Given the description of an element on the screen output the (x, y) to click on. 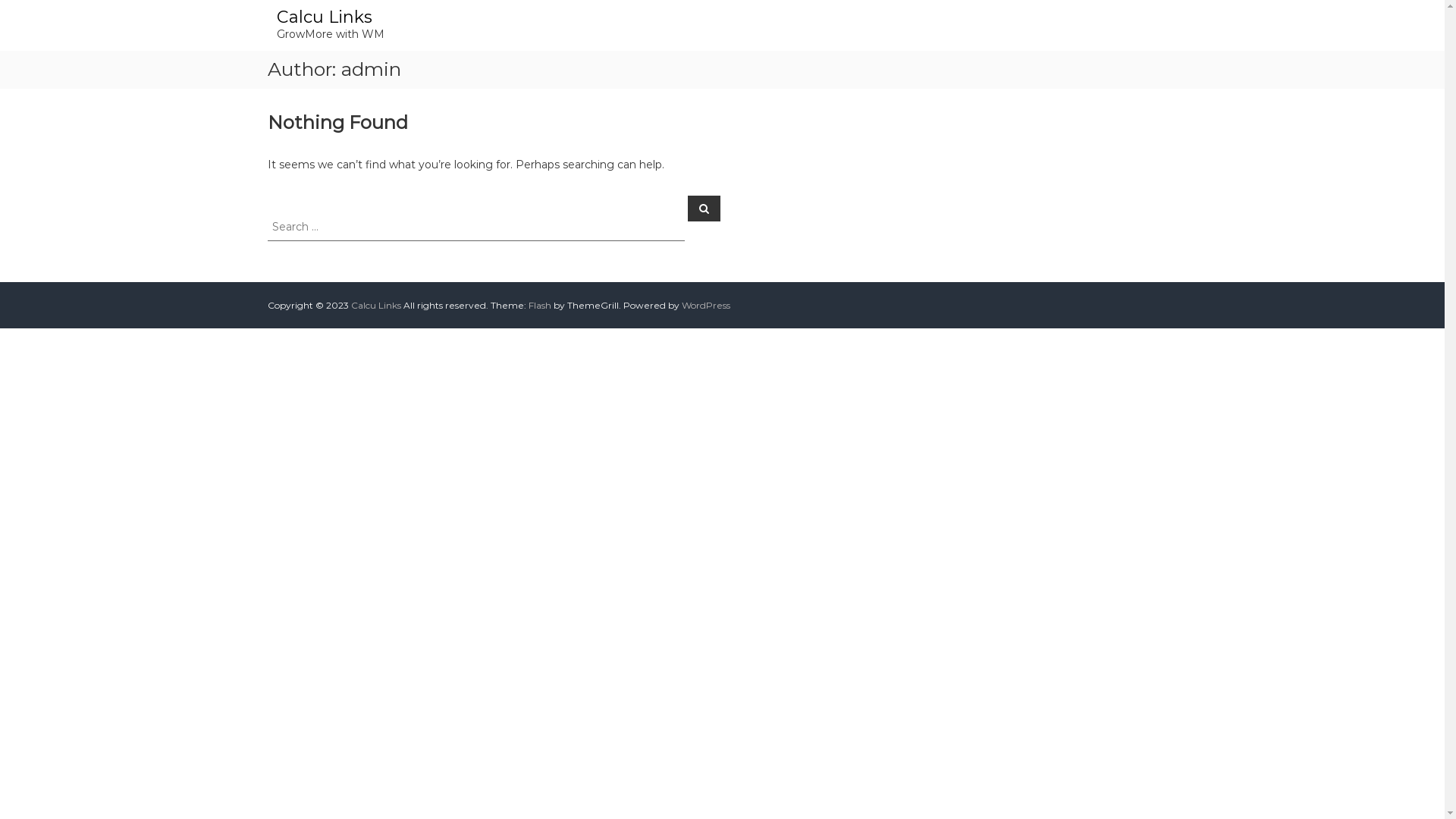
Calcu Links Element type: text (375, 304)
Search Element type: text (703, 208)
Calcu Links Element type: text (323, 16)
Flash Element type: text (538, 304)
WordPress Element type: text (704, 304)
